Given the description of an element on the screen output the (x, y) to click on. 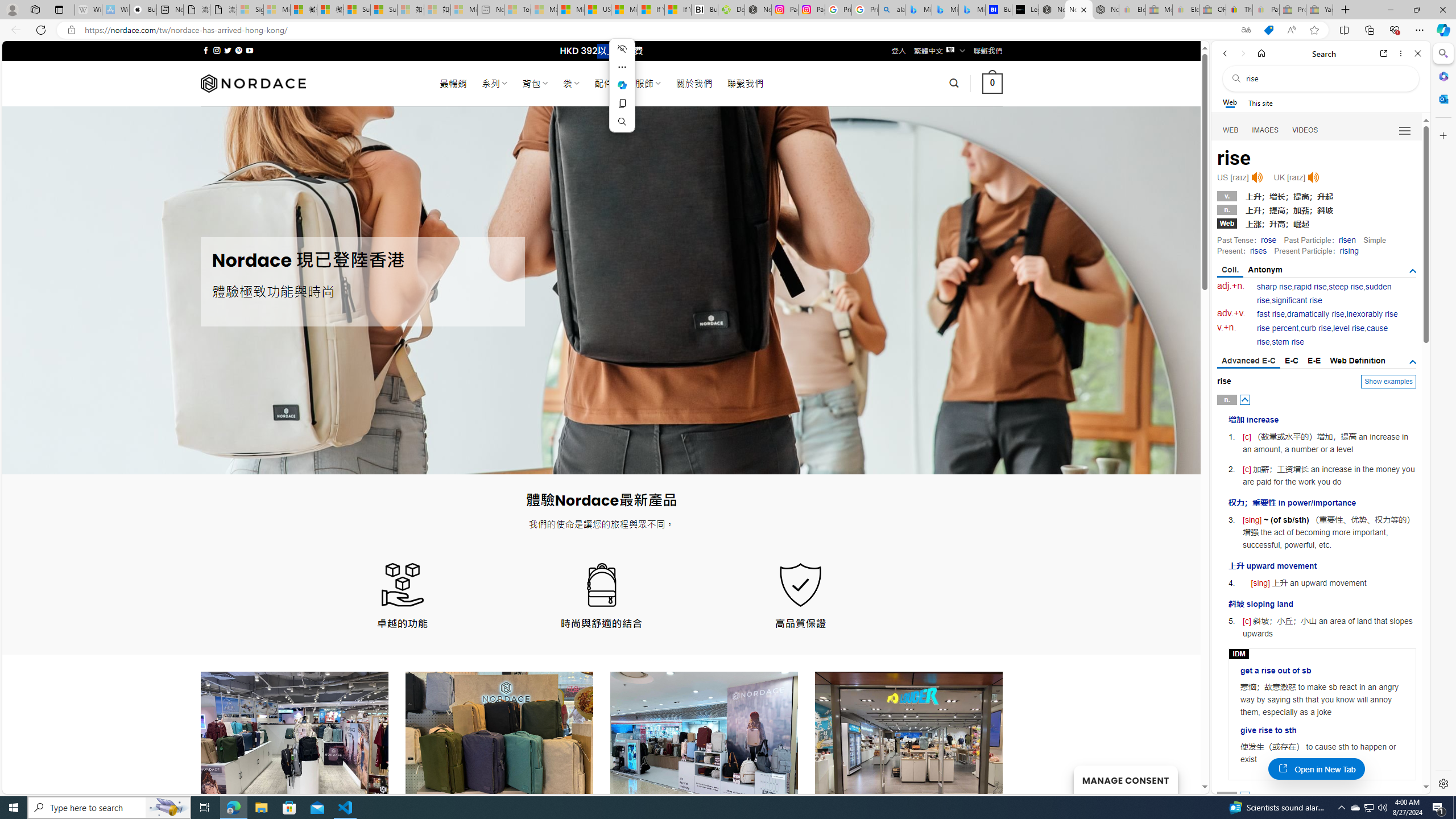
Sign in to your Microsoft account - Sleeping (249, 9)
Web Definition (1357, 360)
significant rise (1296, 300)
Follow on YouTube (249, 50)
